Given the description of an element on the screen output the (x, y) to click on. 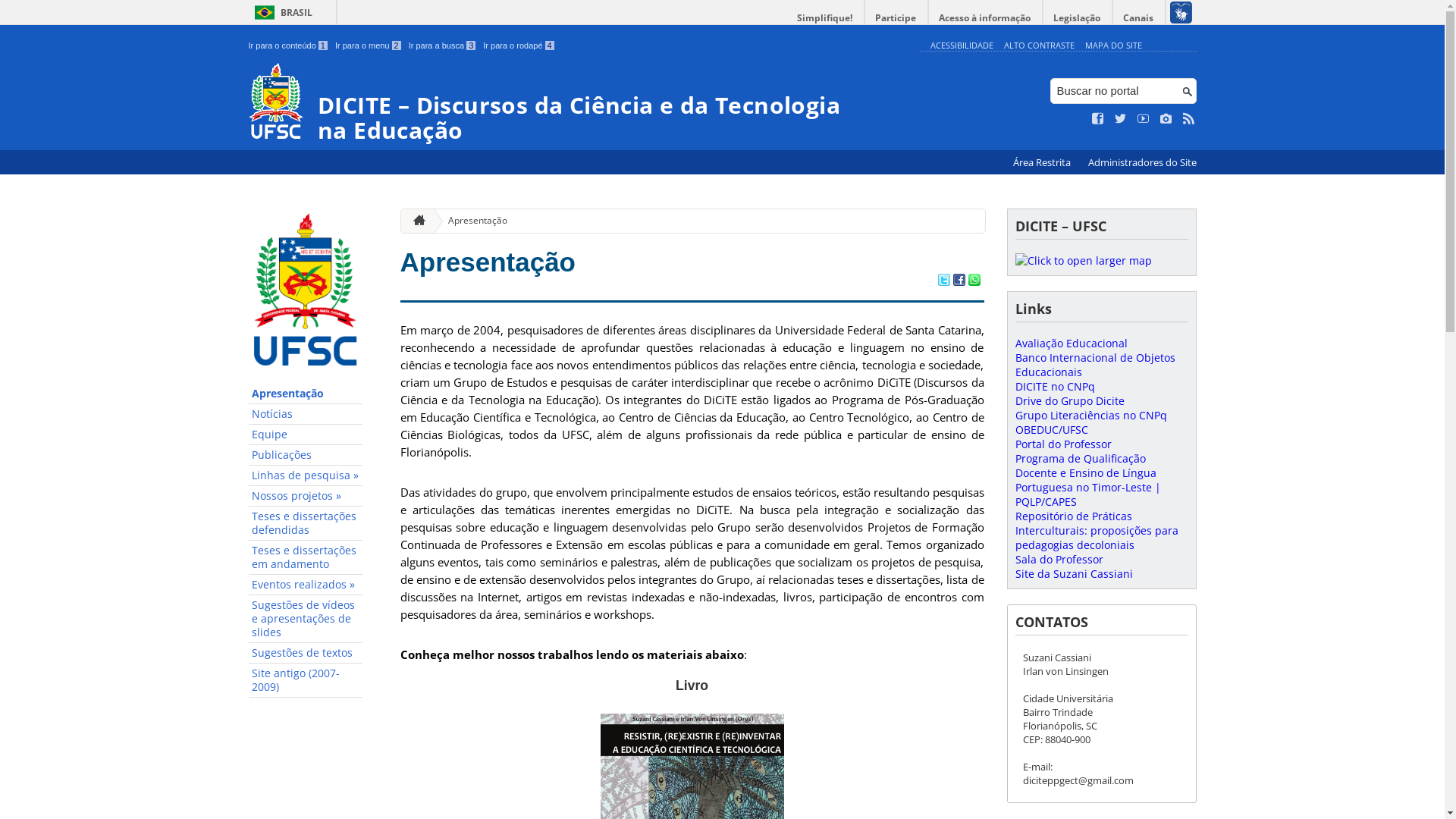
Drive do Grupo Dicite Element type: text (1068, 400)
Equipe Element type: text (305, 434)
Veja no Instagram Element type: hover (1166, 118)
ALTO CONTRASTE Element type: text (1039, 44)
Compartilhar no Facebook Element type: hover (958, 280)
Click to open larger map Element type: hover (1082, 260)
Banco Internacional de Objetos Educacionais Element type: text (1094, 364)
Sala do Professor Element type: text (1058, 559)
BRASIL Element type: text (280, 12)
Siga no Twitter Element type: hover (1120, 118)
Portal do Professor Element type: text (1062, 443)
DICITE no CNPq Element type: text (1054, 386)
Simplifique! Element type: text (825, 18)
Compartilhar no WhatsApp Element type: hover (973, 280)
Curta no Facebook Element type: hover (1098, 118)
Canais Element type: text (1138, 18)
Participe Element type: text (895, 18)
Administradores do Site Element type: text (1141, 162)
Ir para o menu 2 Element type: text (368, 45)
Ir para a busca 3 Element type: text (442, 45)
Site da Suzani Cassiani Element type: text (1073, 573)
Site antigo (2007-2009) Element type: text (305, 680)
OBEDUC/UFSC Element type: text (1050, 429)
ACESSIBILIDADE Element type: text (960, 44)
Compartilhar no Twitter Element type: hover (943, 280)
MAPA DO SITE Element type: text (1112, 44)
